Given the description of an element on the screen output the (x, y) to click on. 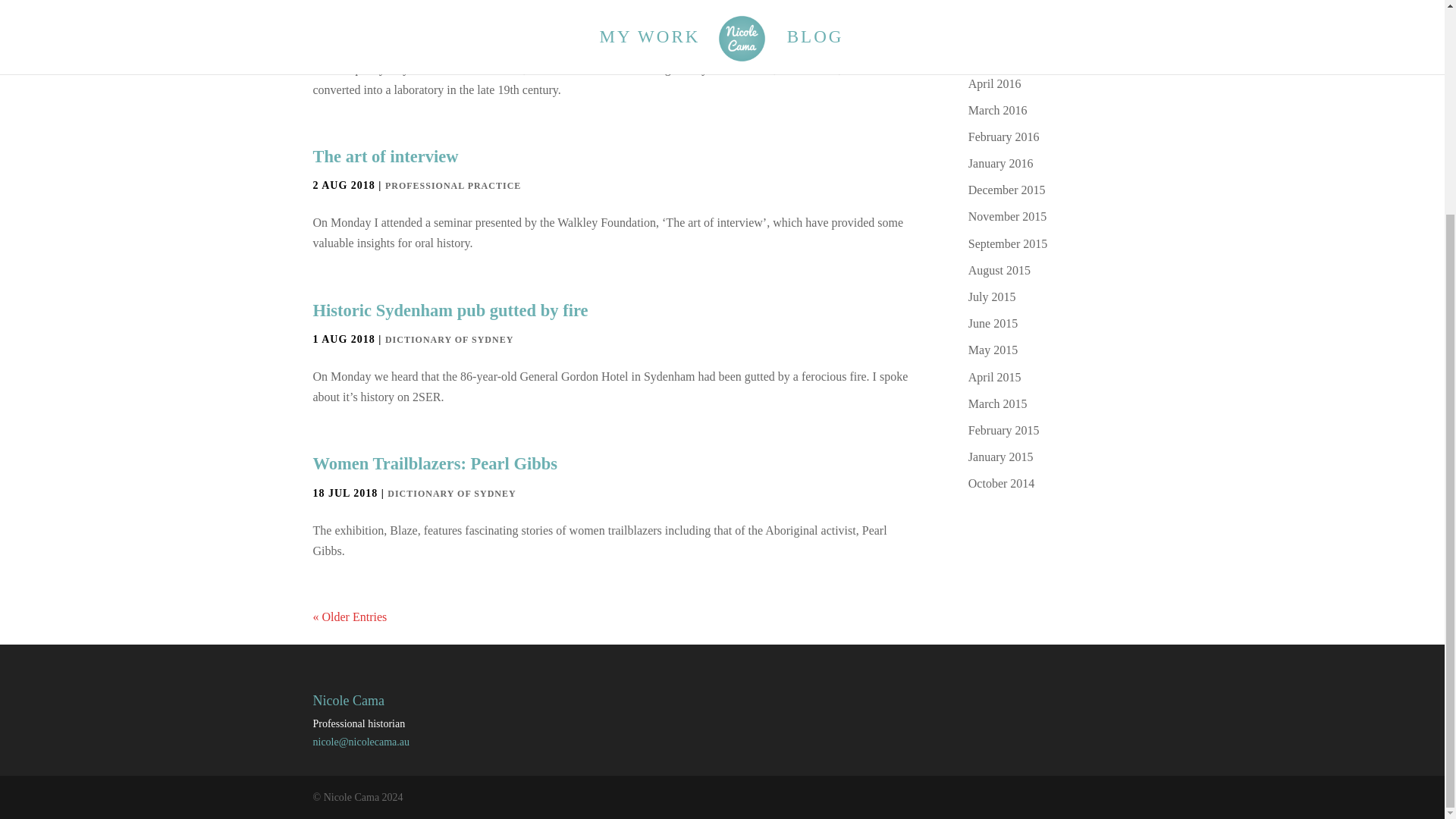
June 2015 (992, 323)
DICTIONARY OF SYDNEY (451, 493)
December 2015 (1006, 189)
DICTIONARY OF SYDNEY (449, 339)
June 2016 (992, 29)
Women Trailblazers: Pearl Gibbs (435, 463)
February 2015 (1003, 430)
March 2016 (997, 110)
The art of interview (385, 156)
April 2016 (995, 83)
